Given the description of an element on the screen output the (x, y) to click on. 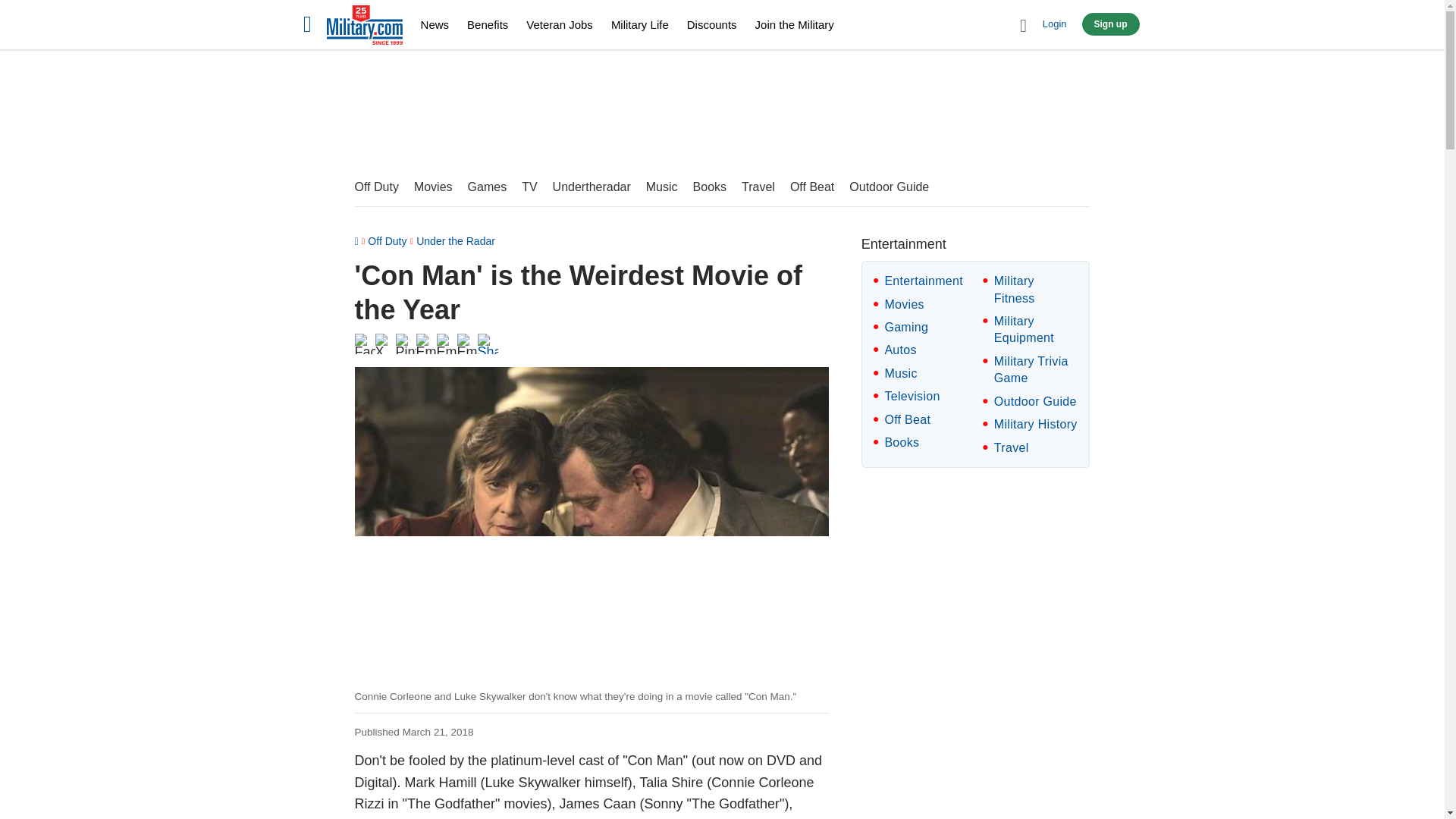
Veteran Jobs (558, 24)
Military Life (639, 24)
Home (364, 27)
Benefits (487, 24)
